Given the description of an element on the screen output the (x, y) to click on. 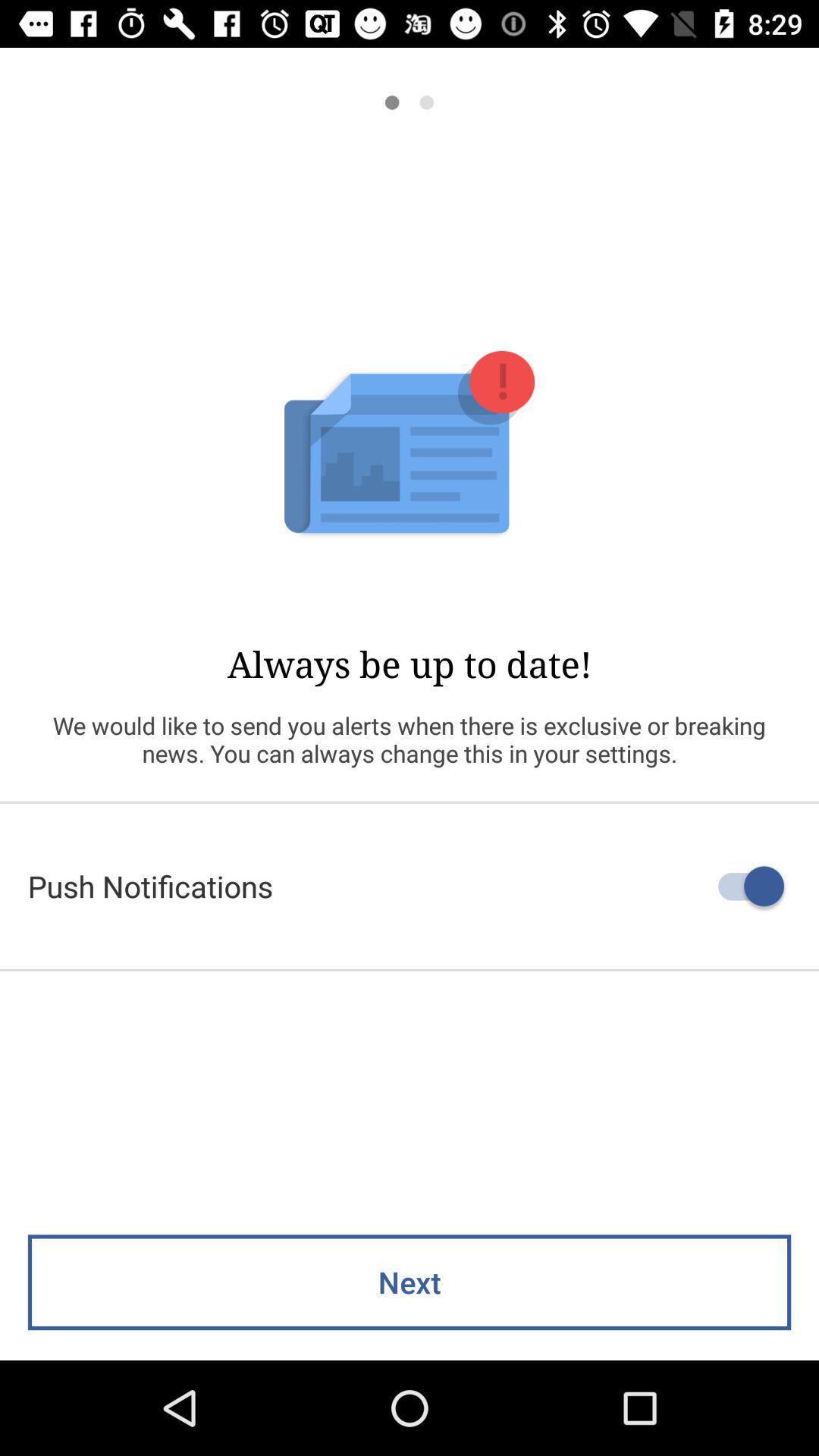
turn off the next (409, 1282)
